Given the description of an element on the screen output the (x, y) to click on. 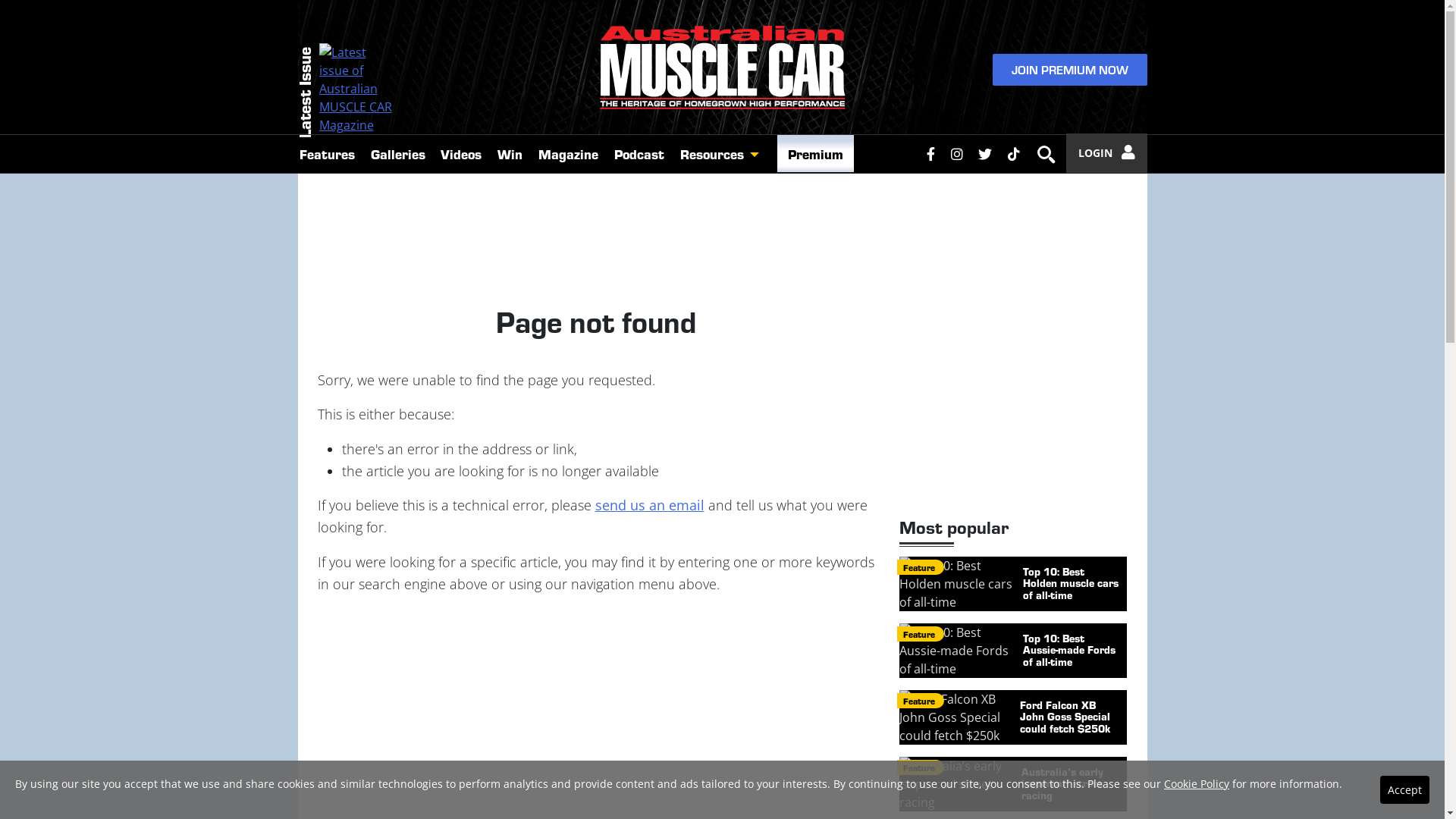
Premium Element type: text (815, 153)
send us an email Element type: text (648, 504)
Australian MUSCLE CAR Magazine logo Element type: hover (721, 67)
Galleries Element type: text (397, 153)
Features Element type: text (326, 153)
Top 10: Best Holden muscle cars of all-time Element type: text (1012, 583)
Accept Element type: text (1404, 789)
Ford Falcon XB John Goss Special could fetch $250k Element type: text (1012, 717)
Feature Element type: text (919, 700)
Feature Element type: text (919, 566)
Feature Element type: text (919, 767)
JOIN PREMIUM NOW Element type: text (1068, 69)
Top 10: Best Aussie-made Fords of all-time Element type: text (1012, 650)
Videos Element type: text (461, 153)
Podcast Element type: text (638, 153)
LOGIN Element type: text (1106, 152)
Feature Element type: text (919, 633)
Magazine Element type: text (568, 153)
Cookie Policy Element type: text (1196, 783)
Win Element type: text (509, 153)
Resources Element type: text (710, 153)
